Given the description of an element on the screen output the (x, y) to click on. 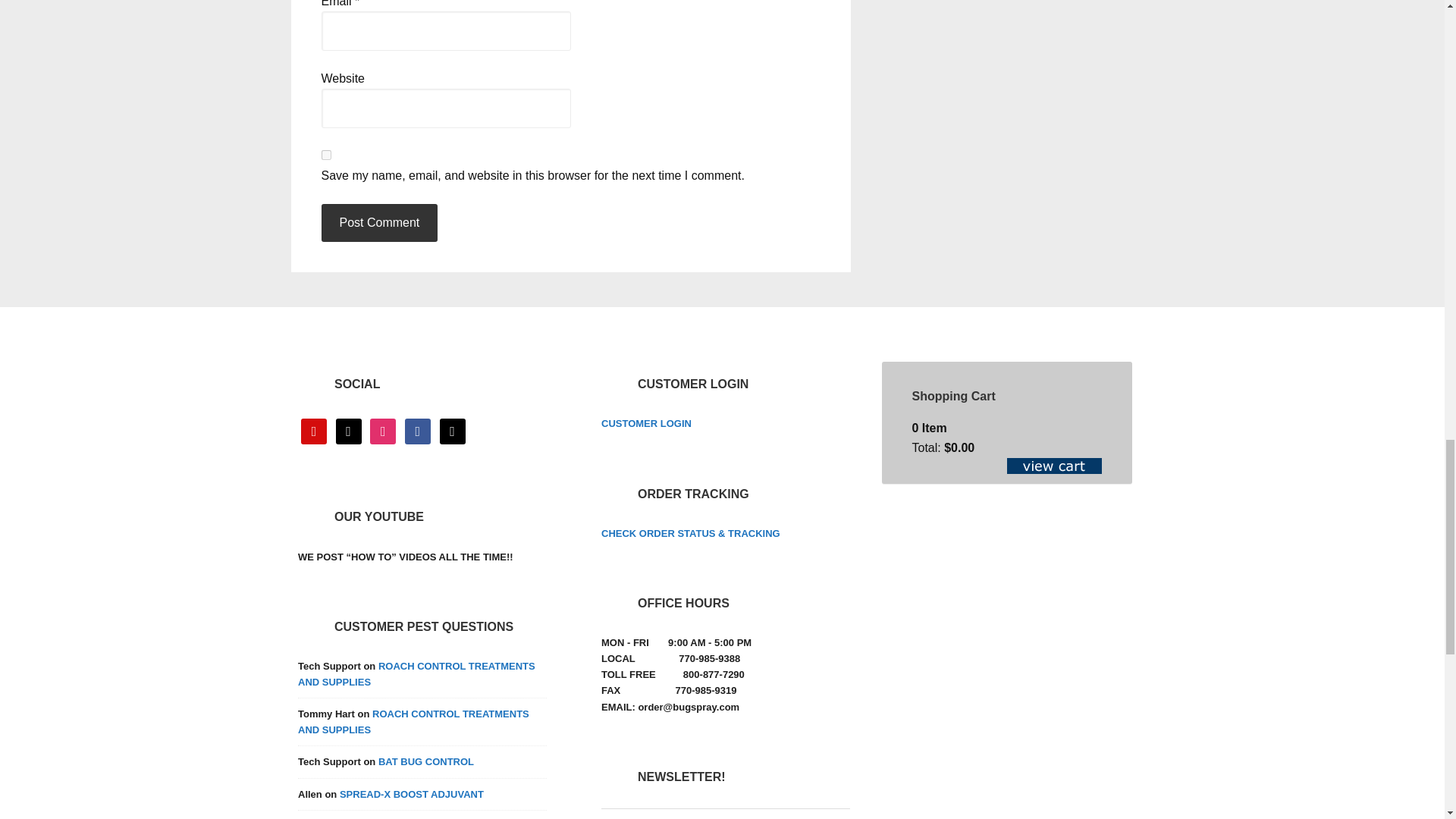
Default Label (348, 430)
yes (326, 154)
Default Label (452, 430)
Instagram (382, 430)
Friend me on Facebook (417, 430)
Post Comment (379, 222)
